Given the description of an element on the screen output the (x, y) to click on. 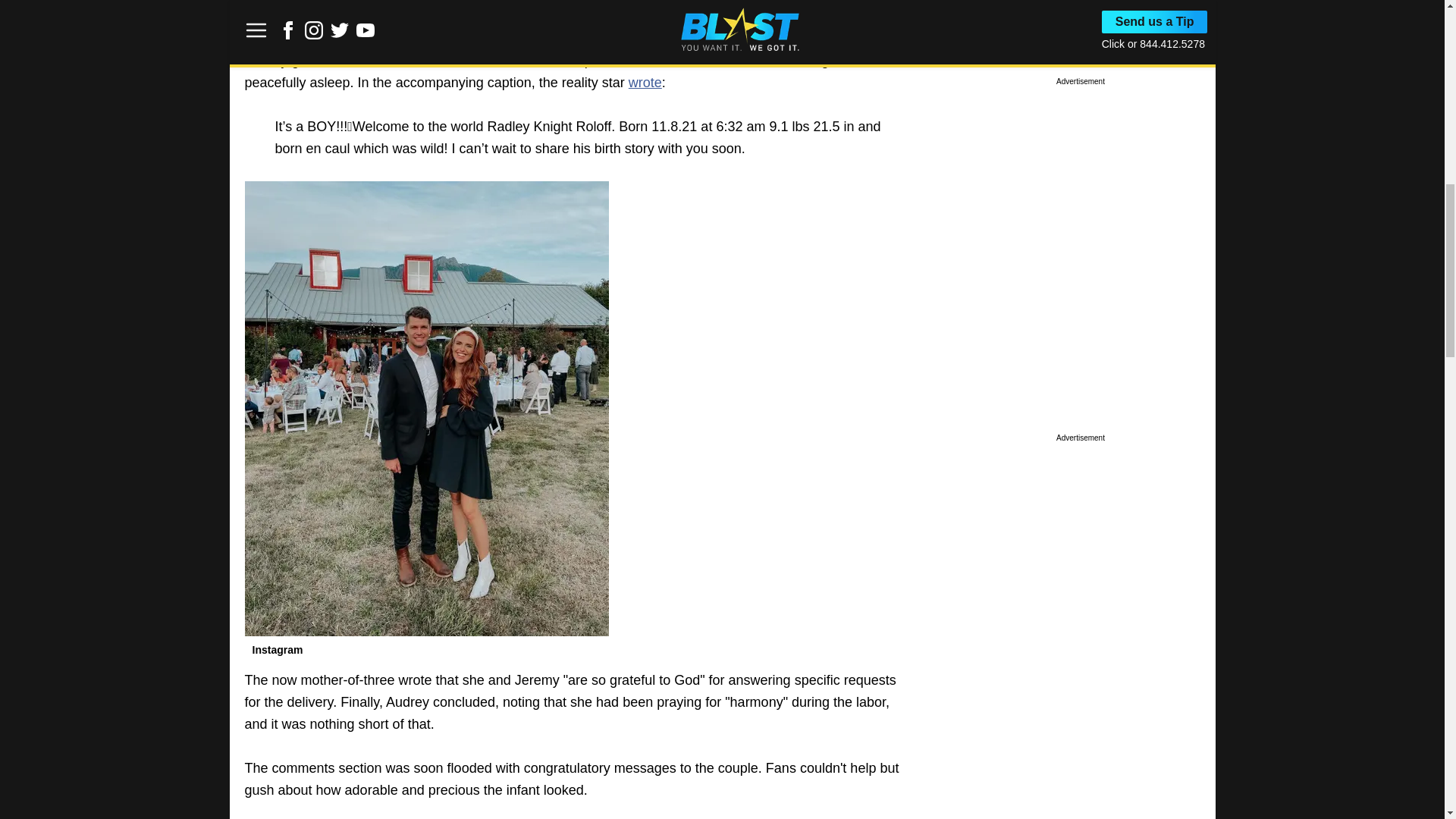
wrote (645, 82)
